Given the description of an element on the screen output the (x, y) to click on. 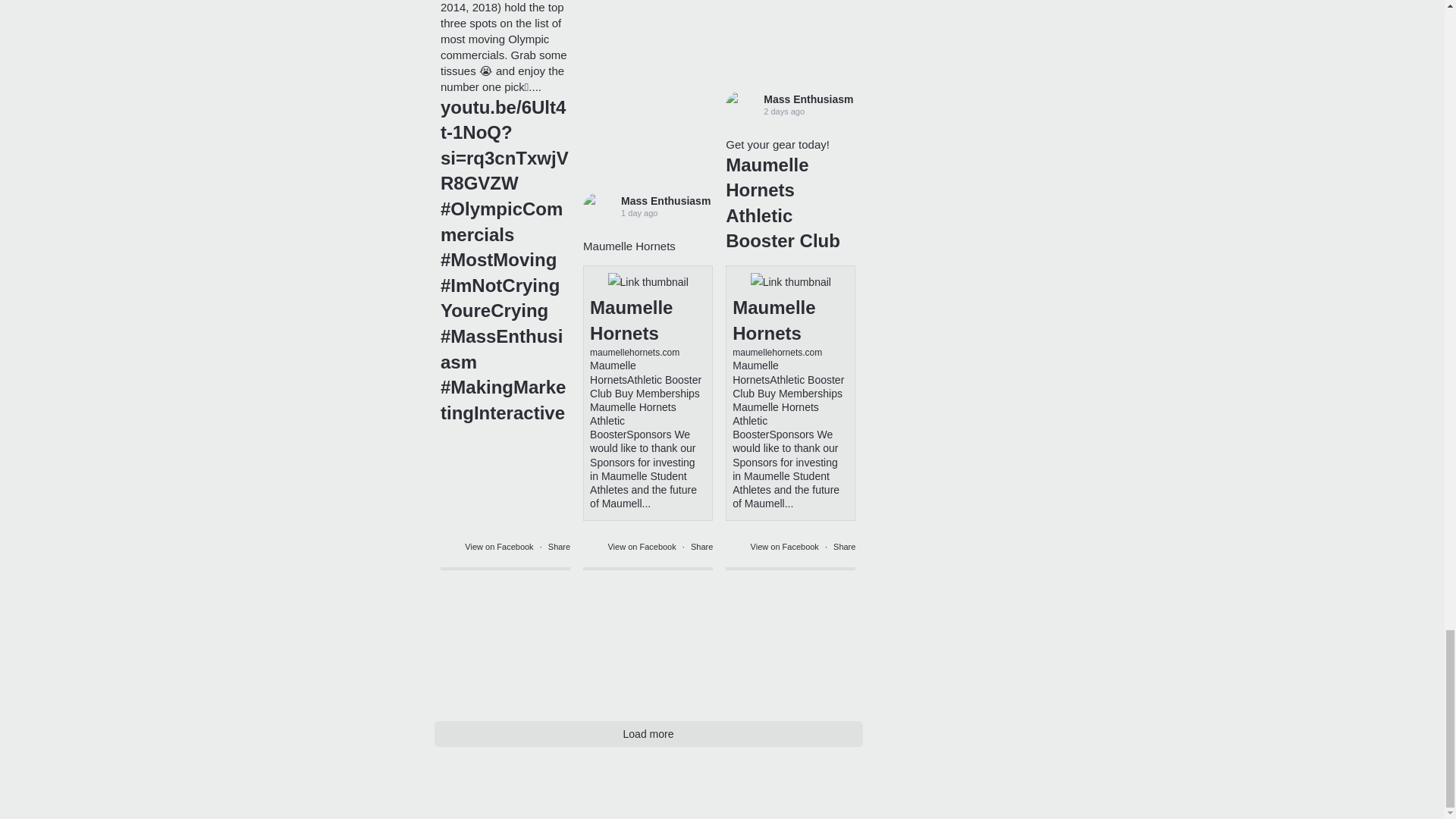
View on Facebook (642, 546)
YouTube video (505, 480)
Likebox Content (505, 641)
Share (559, 546)
Share (701, 546)
Share (844, 546)
View on Facebook (499, 546)
View on Facebook (786, 546)
